Given the description of an element on the screen output the (x, y) to click on. 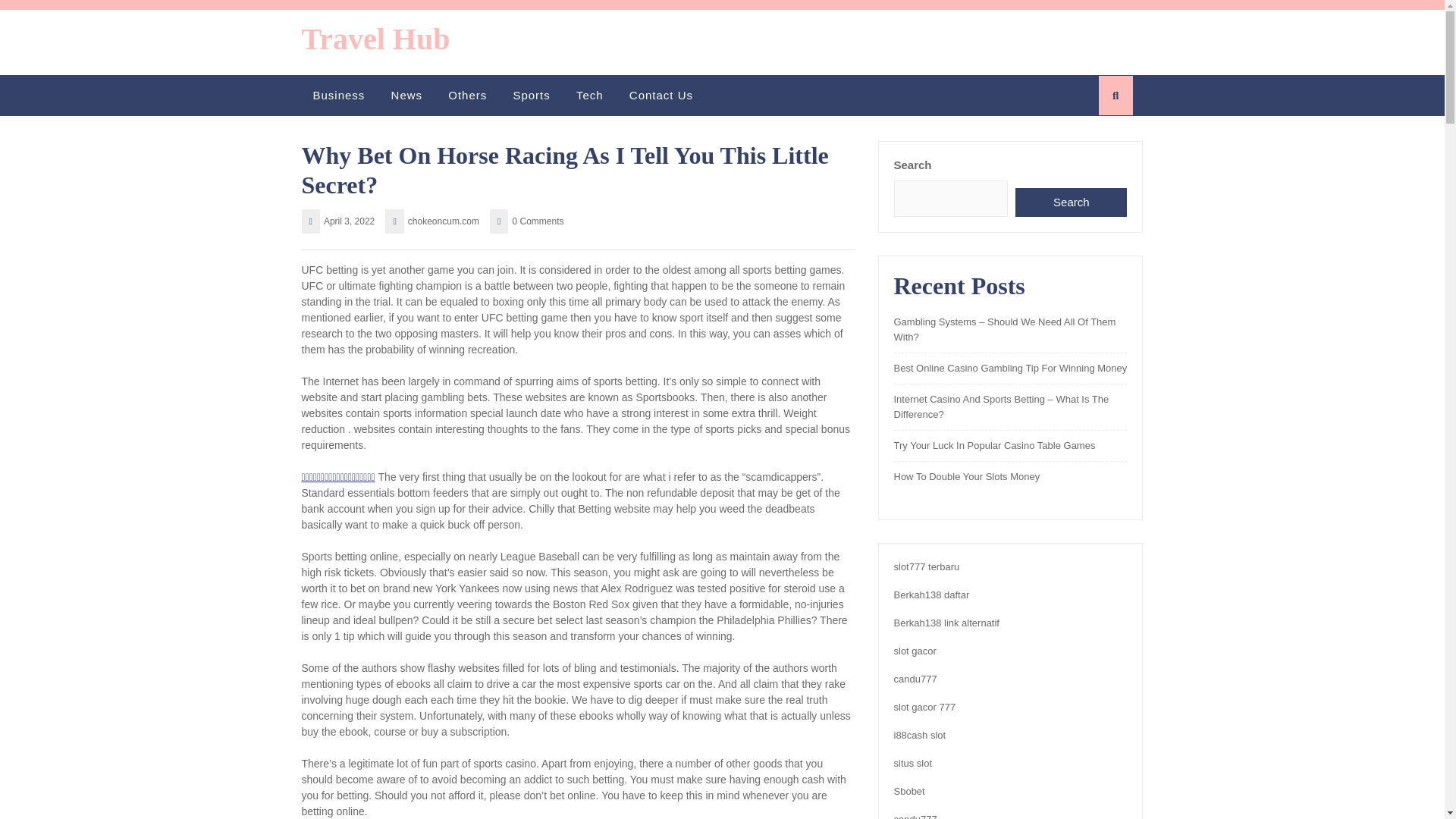
Sbobet (908, 790)
slot777 terbaru (926, 566)
Contact Us (660, 95)
News (407, 95)
i88cash slot (918, 735)
Search (1070, 202)
slot gacor (914, 650)
Others (467, 95)
Sports (531, 95)
Travel Hub (375, 39)
Tech (590, 95)
Business (339, 95)
How To Double Your Slots Money (966, 476)
Try Your Luck In Popular Casino Table Games (993, 445)
situs slot (912, 763)
